Given the description of an element on the screen output the (x, y) to click on. 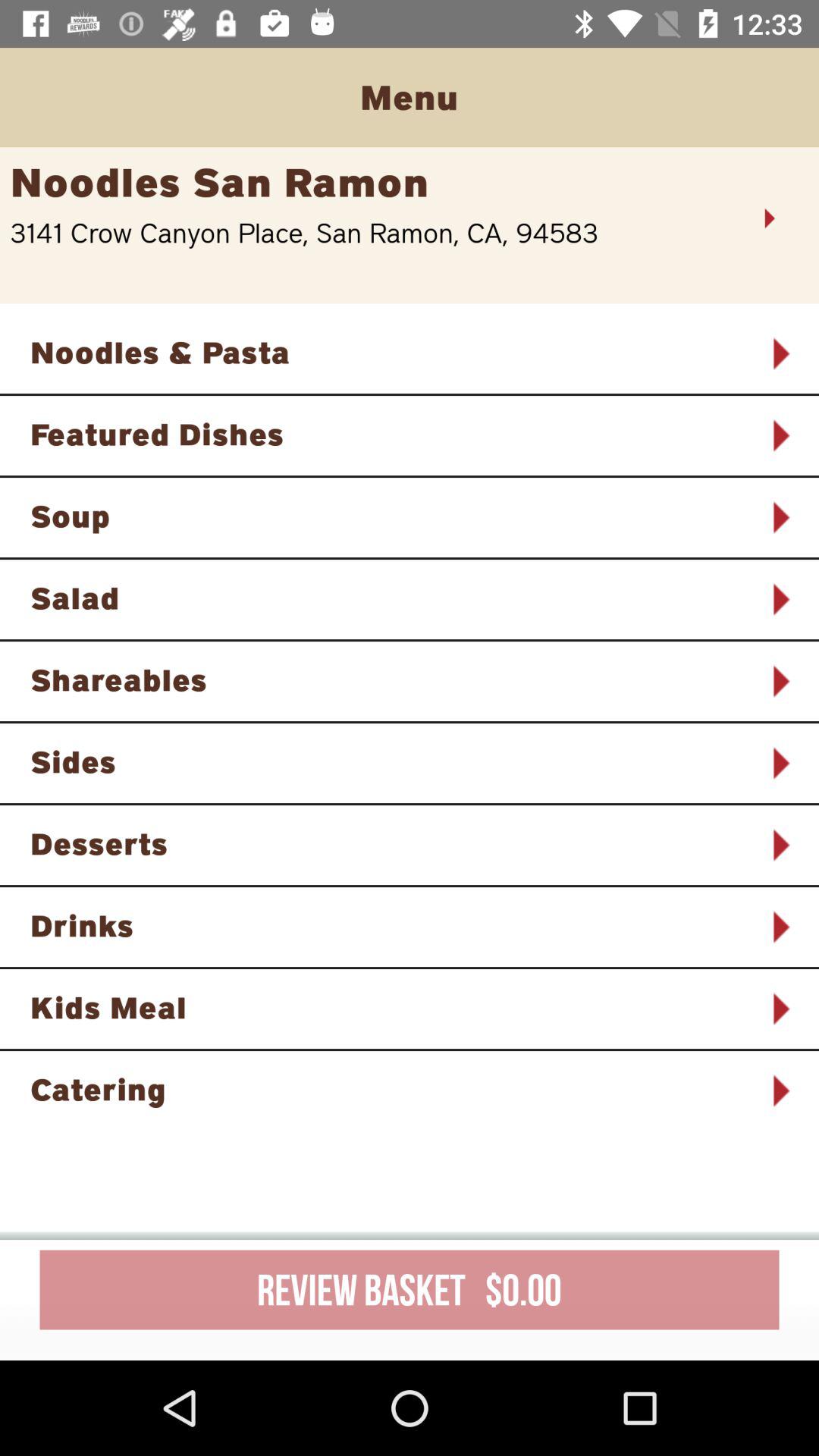
open soup  item (390, 515)
